Given the description of an element on the screen output the (x, y) to click on. 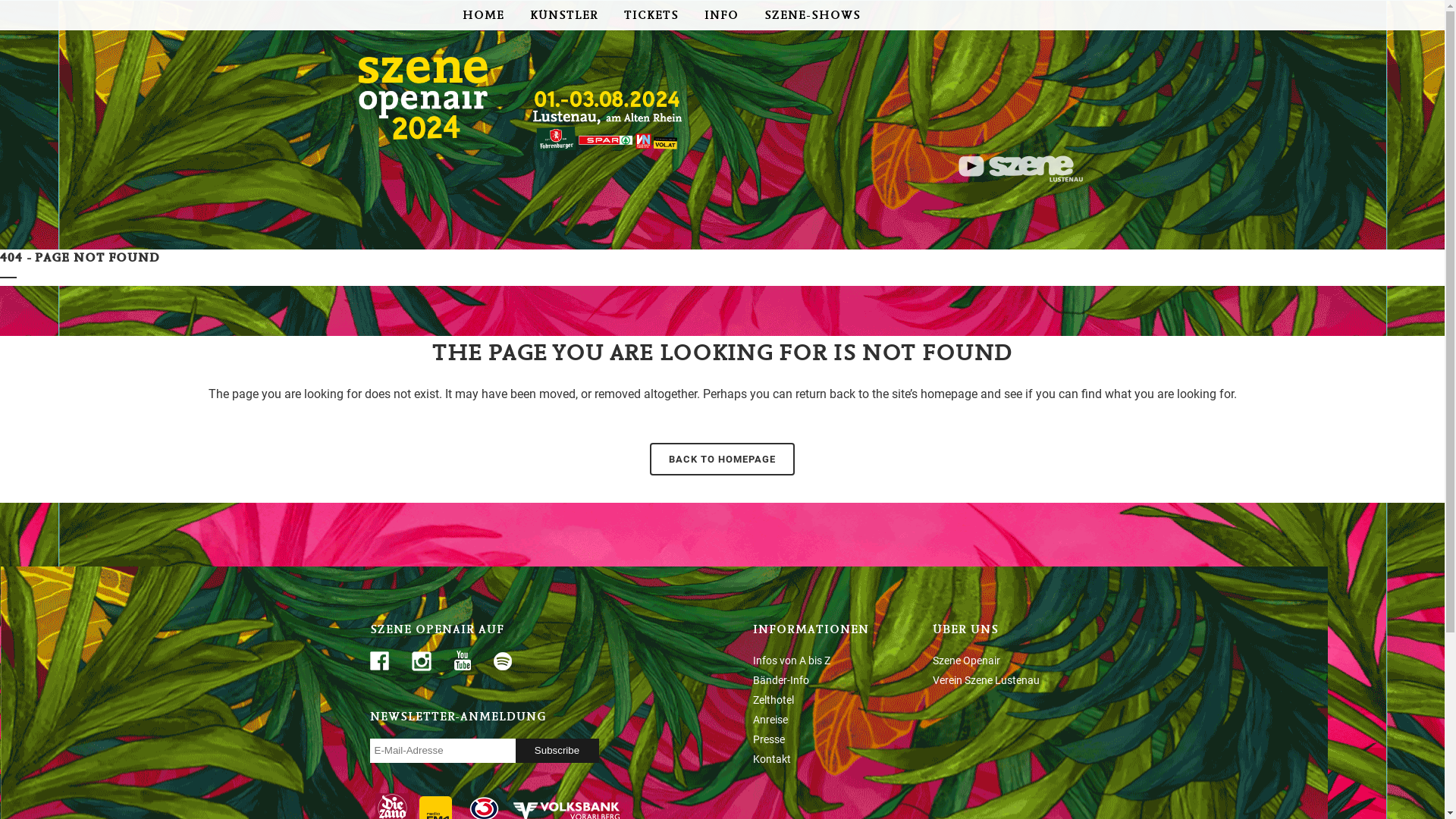
Kultur- und Jugendverein Szene Lustenau Element type: hover (1020, 177)
Szene Openair Element type: text (966, 660)
INFO Element type: text (721, 15)
TICKETS Element type: text (651, 15)
HOME Element type: text (482, 15)
Kontakt Element type: text (771, 759)
BACK TO HOMEPAGE Element type: text (721, 458)
Startseite Element type: hover (421, 135)
Anreise Element type: text (769, 719)
Infos von A bis Z Element type: text (790, 660)
SZENE-SHOWS Element type: text (811, 15)
Verein Szene Lustenau Element type: text (985, 680)
Zelthotel Element type: text (772, 699)
Subscribe Element type: text (557, 750)
Presse Element type: text (768, 739)
